Given the description of an element on the screen output the (x, y) to click on. 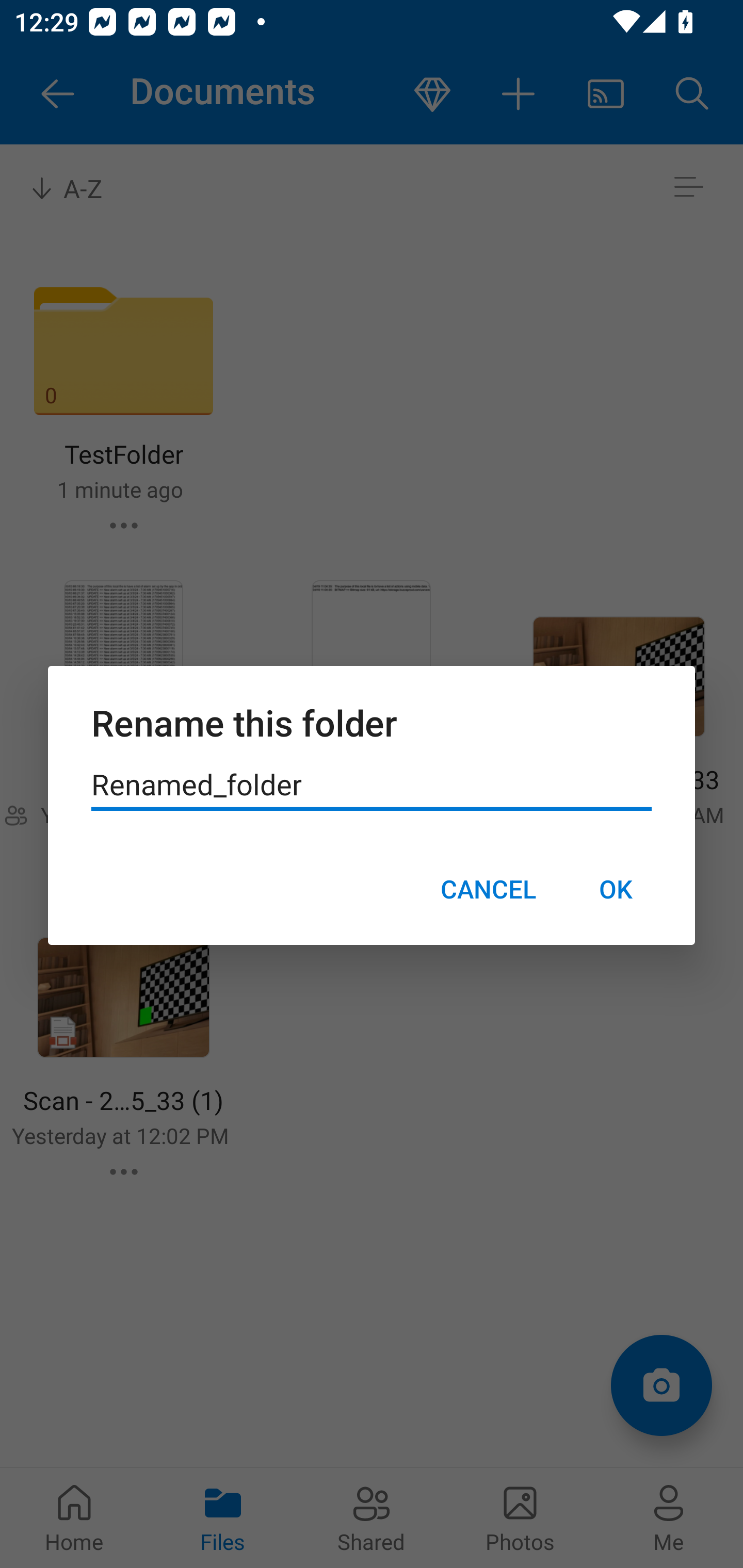
Renamed_folder (371, 784)
CANCEL (488, 888)
OK (615, 888)
